Given the description of an element on the screen output the (x, y) to click on. 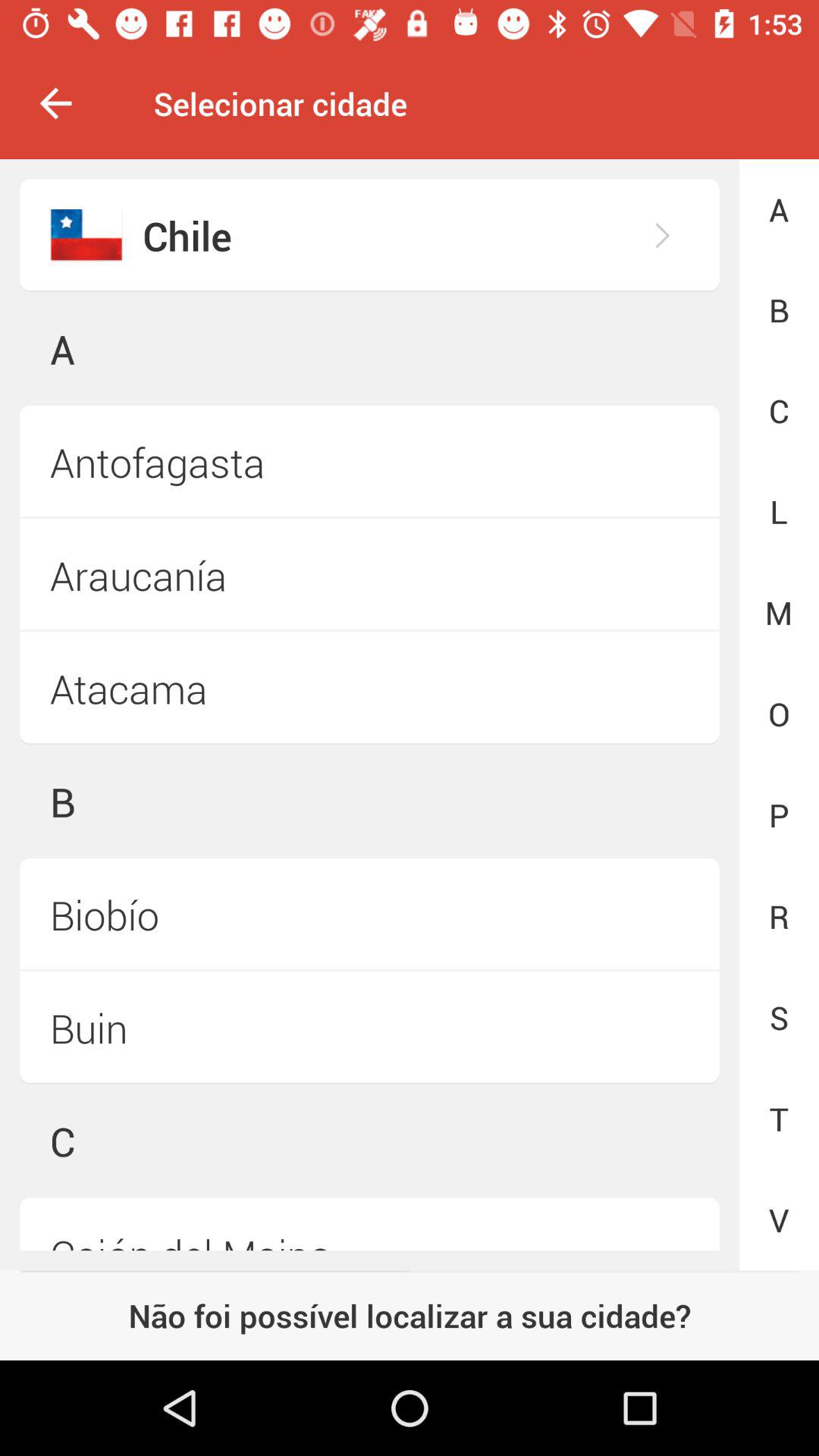
choose icon next to r (369, 1027)
